Given the description of an element on the screen output the (x, y) to click on. 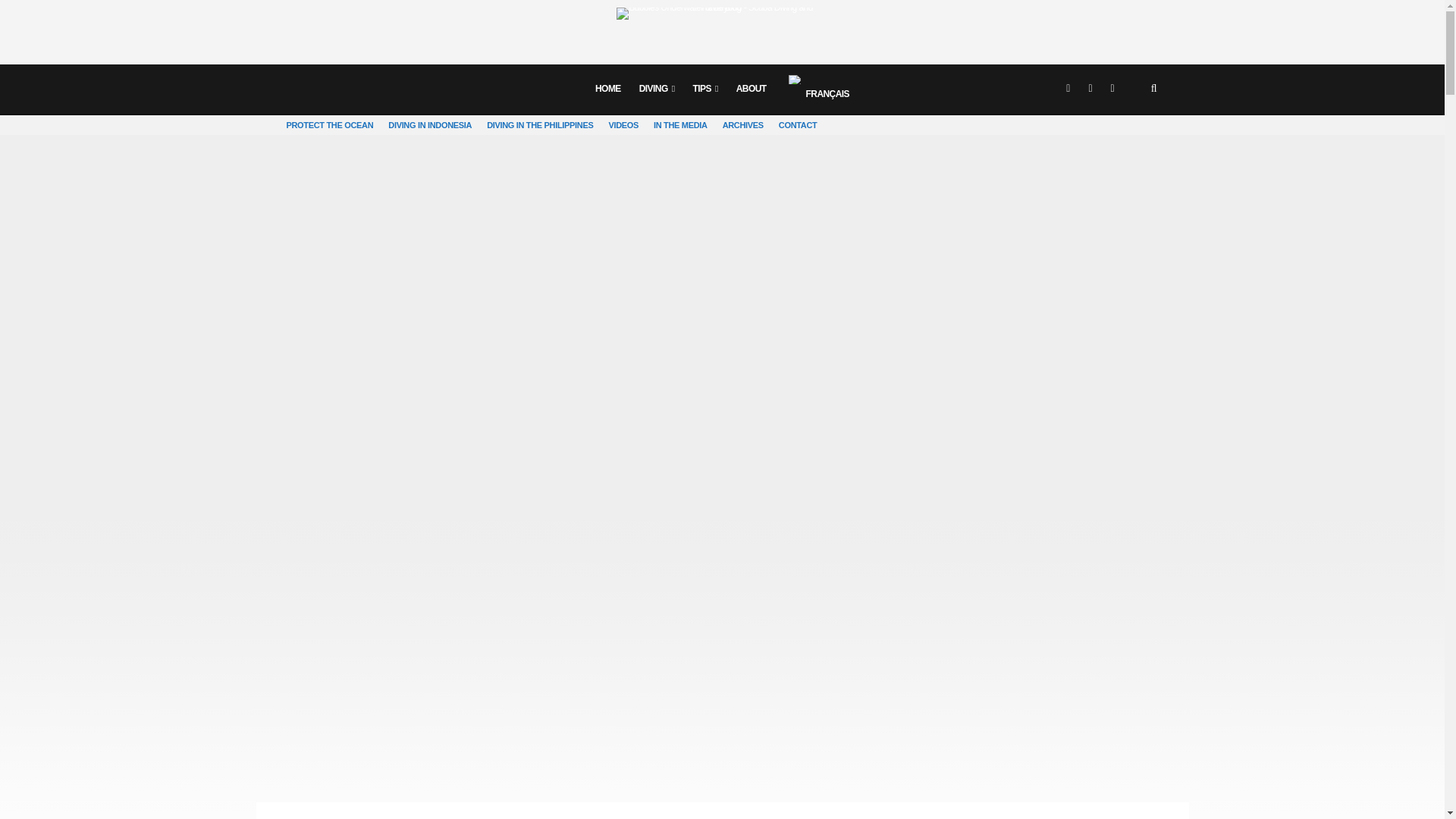
DIVING IN THE PHILIPPINES (539, 125)
VIDEOS (622, 125)
DIVING (657, 88)
PROTECT THE OCEAN (330, 125)
Diving (657, 88)
ARCHIVES (742, 125)
DIVING IN INDONESIA (429, 125)
IN THE MEDIA (680, 125)
HOME (608, 88)
ABOUT (751, 88)
